Given the description of an element on the screen output the (x, y) to click on. 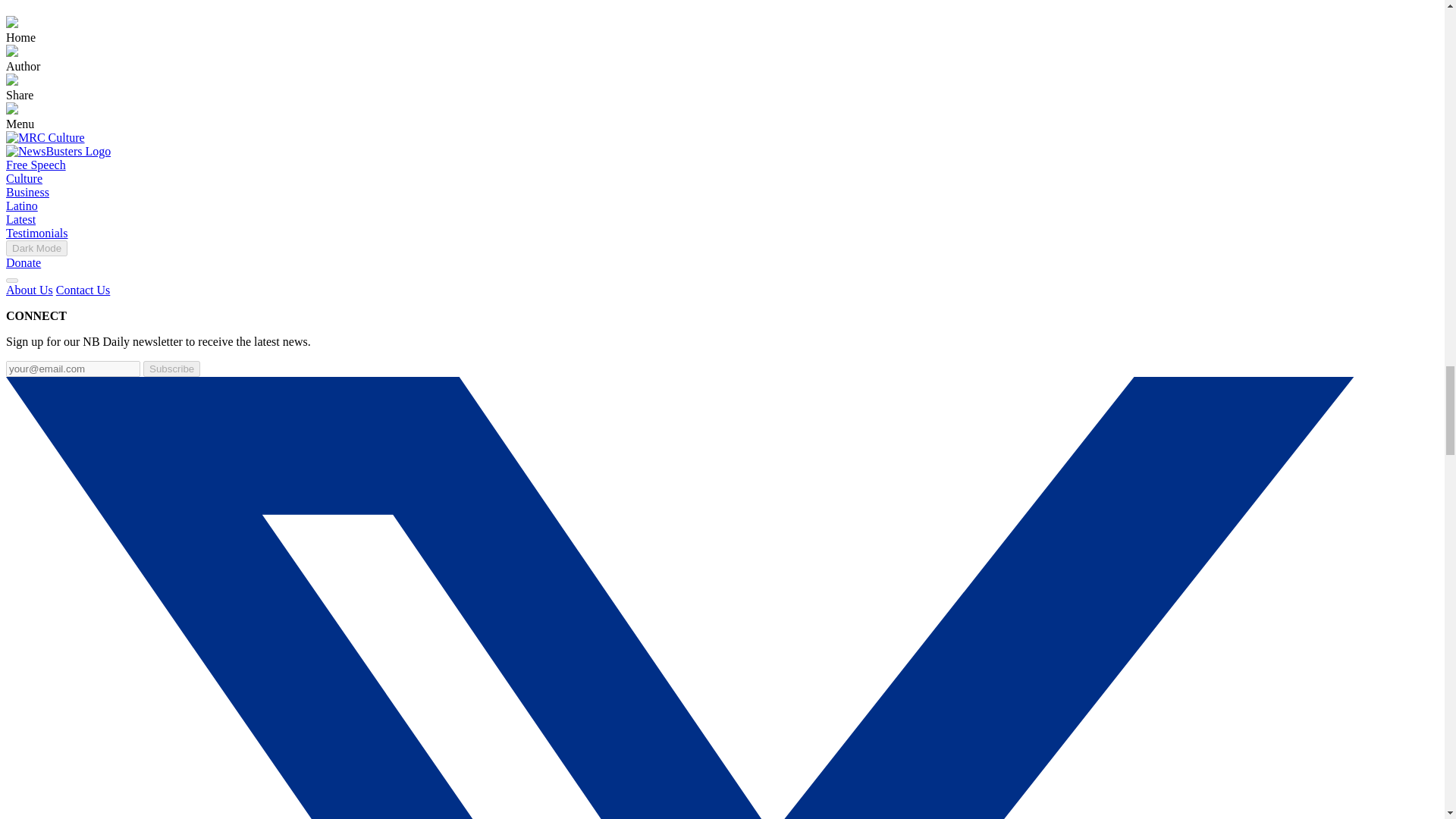
Donate (22, 262)
Testimonials (36, 232)
Dark Mode (35, 248)
